Given the description of an element on the screen output the (x, y) to click on. 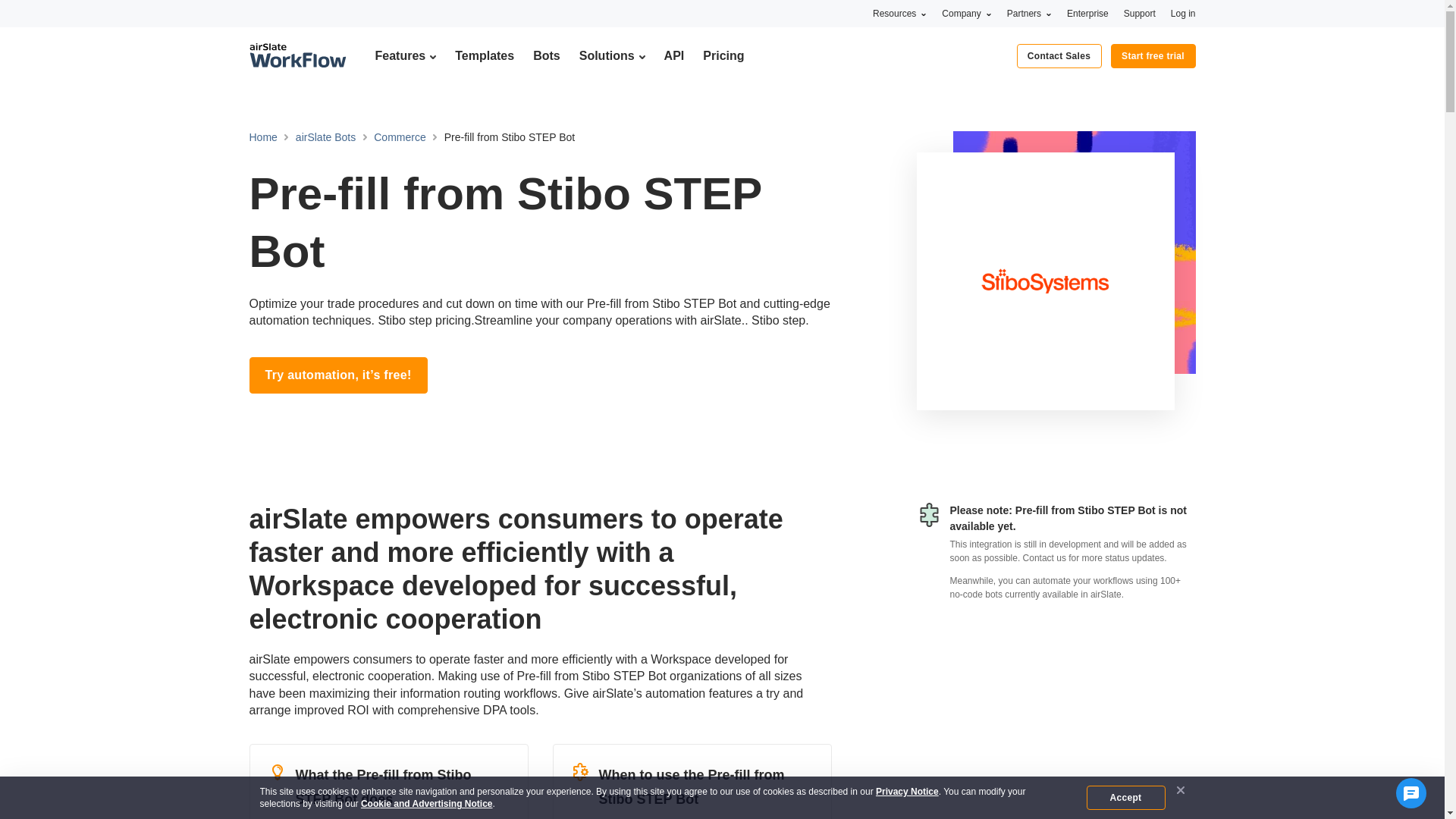
Enterprise (1087, 13)
Partners (1029, 13)
Log in (1182, 13)
Resources (899, 13)
Company (966, 13)
Support (1140, 13)
Templates (483, 55)
